Given the description of an element on the screen output the (x, y) to click on. 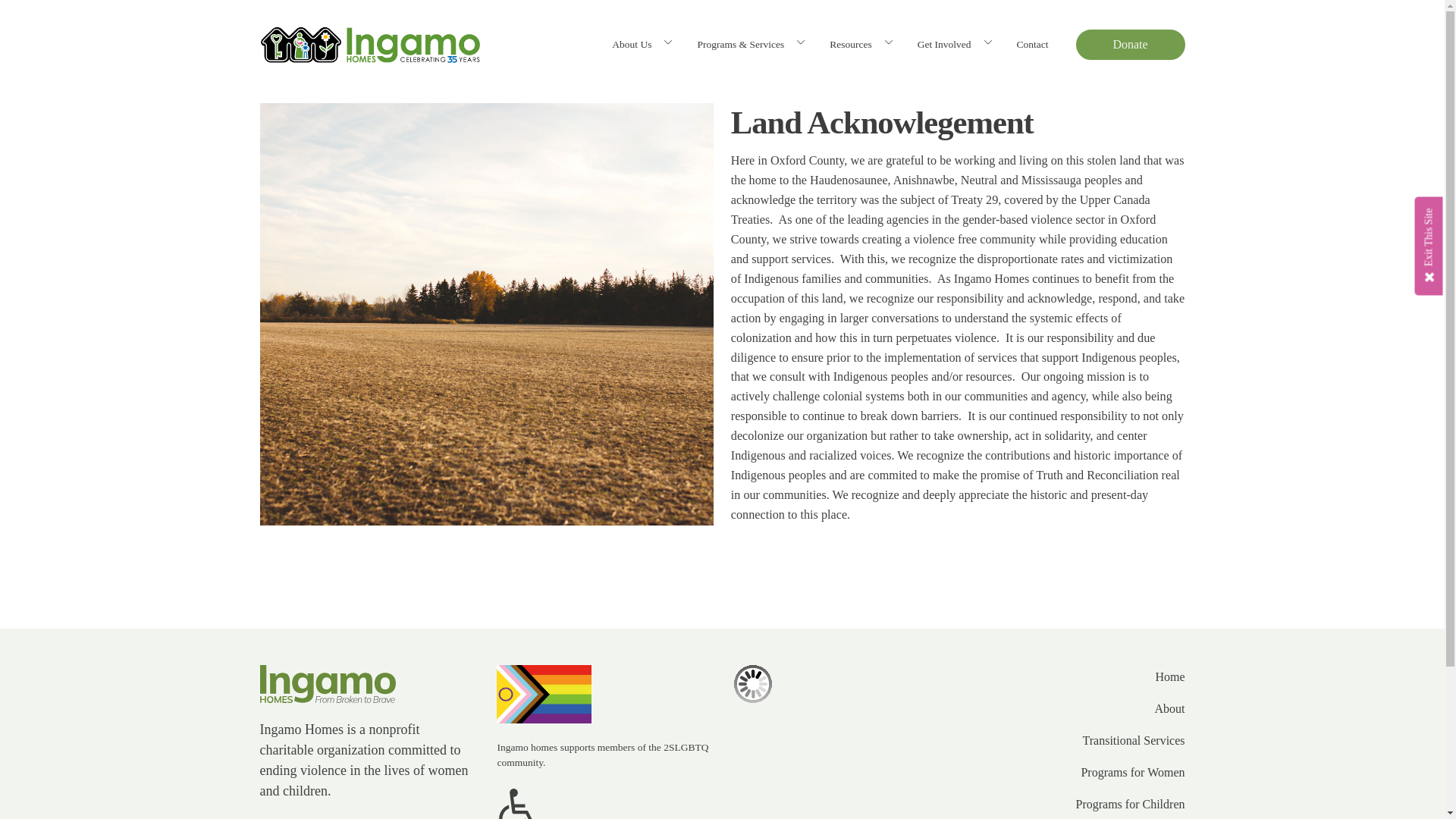
About Us (631, 44)
Get Involved (944, 44)
Home (1169, 677)
Donate (1130, 44)
Contact (1031, 44)
About (1169, 709)
Programs for Women (1132, 772)
Resources (849, 44)
Transitional Services (1134, 741)
Programs for Children (1130, 804)
